Given the description of an element on the screen output the (x, y) to click on. 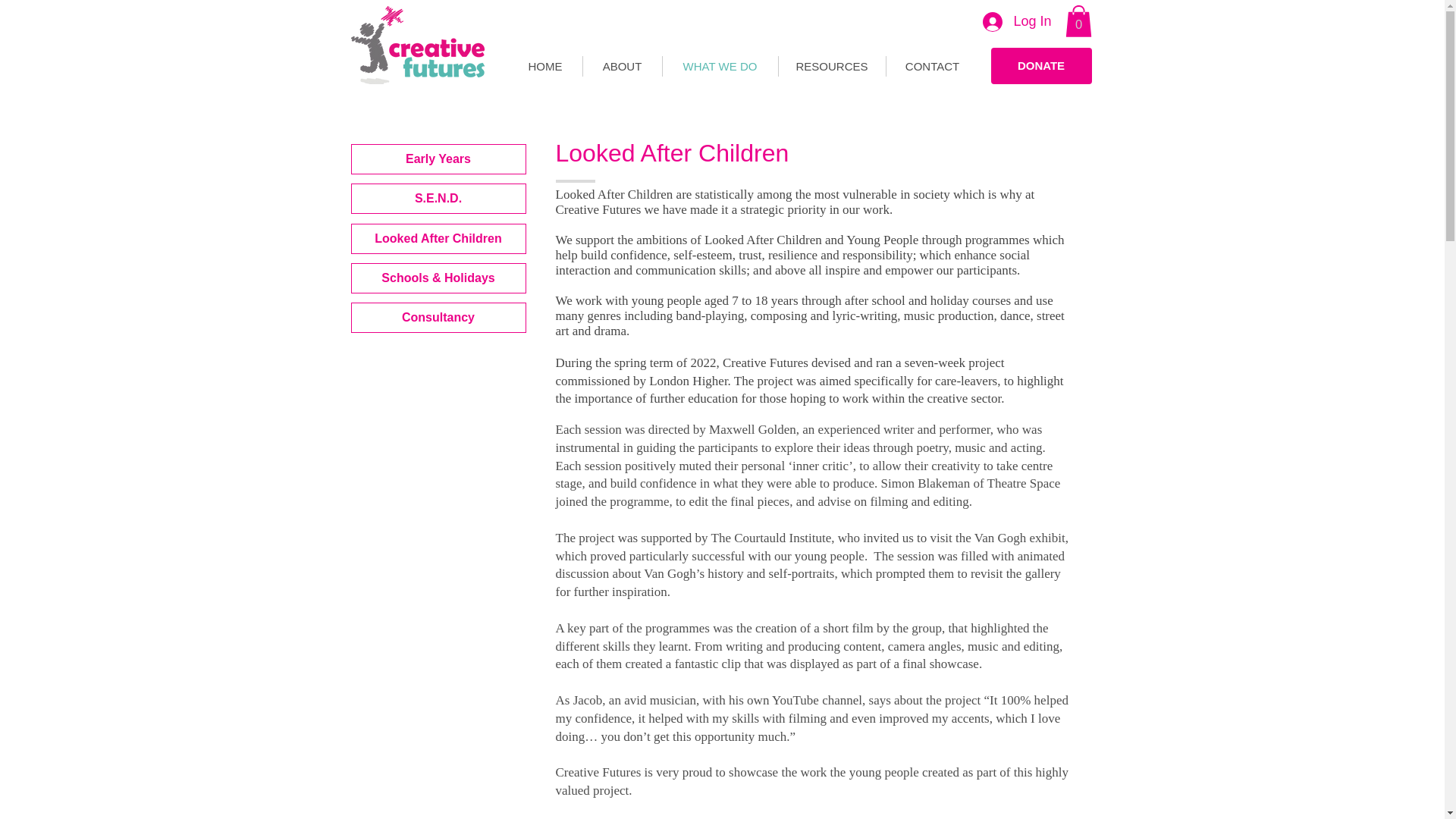
Log In (1016, 21)
WHAT WE DO (719, 66)
CONTACT (931, 66)
HOME (544, 66)
Early Years (437, 159)
DONATE (1040, 65)
S.E.N.D. (437, 198)
ABOUT (621, 66)
RESOURCES (831, 66)
Looked After Children (437, 238)
